Given the description of an element on the screen output the (x, y) to click on. 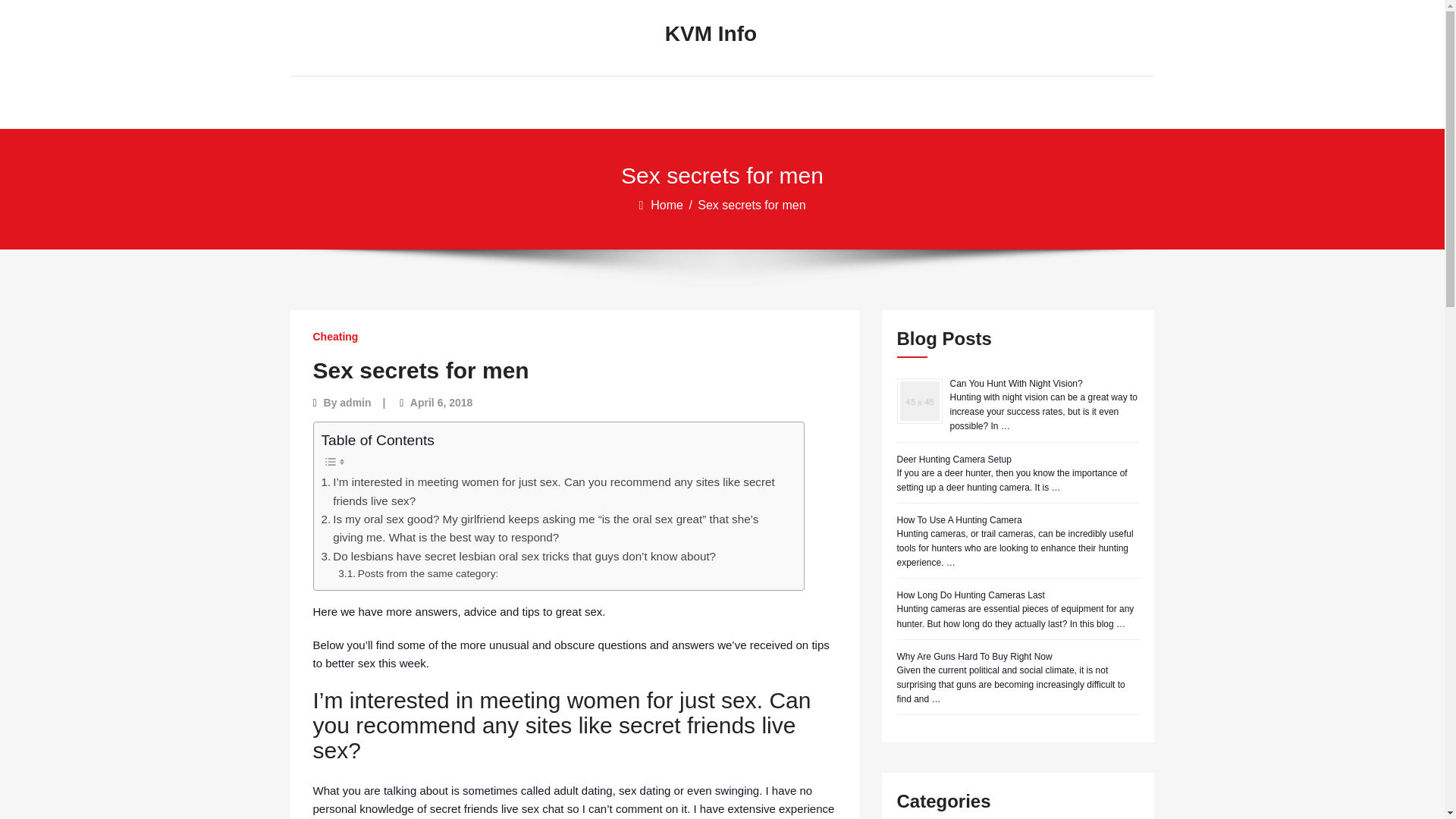
How To Use A Hunting Camera (959, 520)
Cheating (335, 336)
April 6, 2018 (441, 402)
Can You Hunt With Night Vision? (1015, 383)
How Long Do Hunting Cameras Last (969, 594)
Posts from the same category: (417, 573)
Why Are Guns Hard To Buy Right Now (973, 656)
KVM Info (710, 34)
Deer Hunting Camera Setup (953, 459)
Posts from the same category: (417, 573)
